Given the description of an element on the screen output the (x, y) to click on. 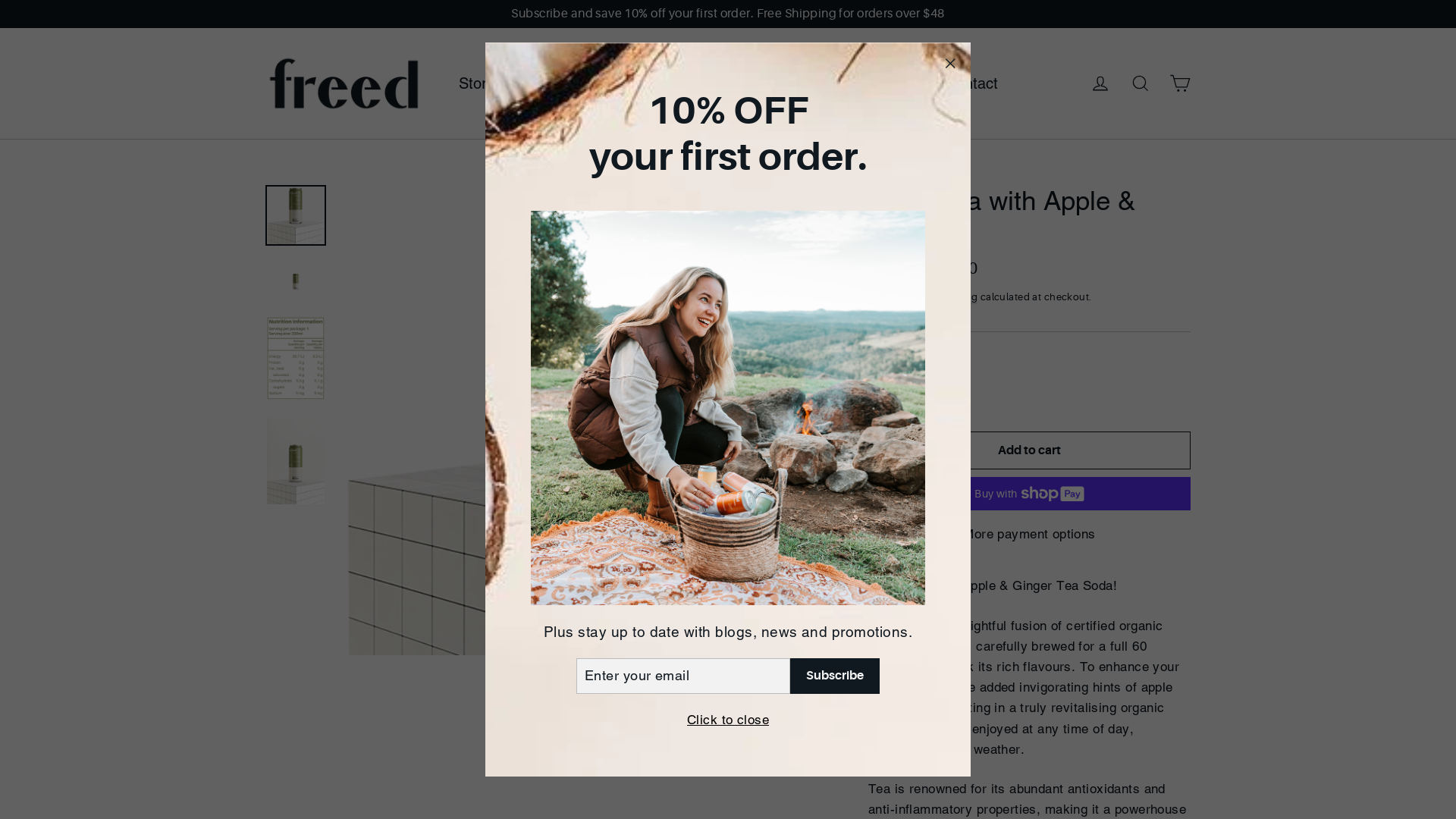
Contact Element type: text (970, 83)
Recipes Element type: text (888, 83)
More payment options Element type: text (1029, 534)
Store Locator Element type: text (672, 83)
Learn Element type: text (568, 83)
Click to close Element type: text (727, 720)
Add to cart Element type: text (1029, 450)
Log in Element type: text (1100, 83)
Subscription Element type: text (788, 83)
Subscribe Element type: text (834, 675)
"Close (esc)" Element type: text (949, 63)
Search Element type: text (1140, 83)
Cart Element type: text (1179, 83)
Store Element type: text (483, 83)
Skip to content Element type: text (0, 0)
Shipping Element type: text (955, 297)
